Given the description of an element on the screen output the (x, y) to click on. 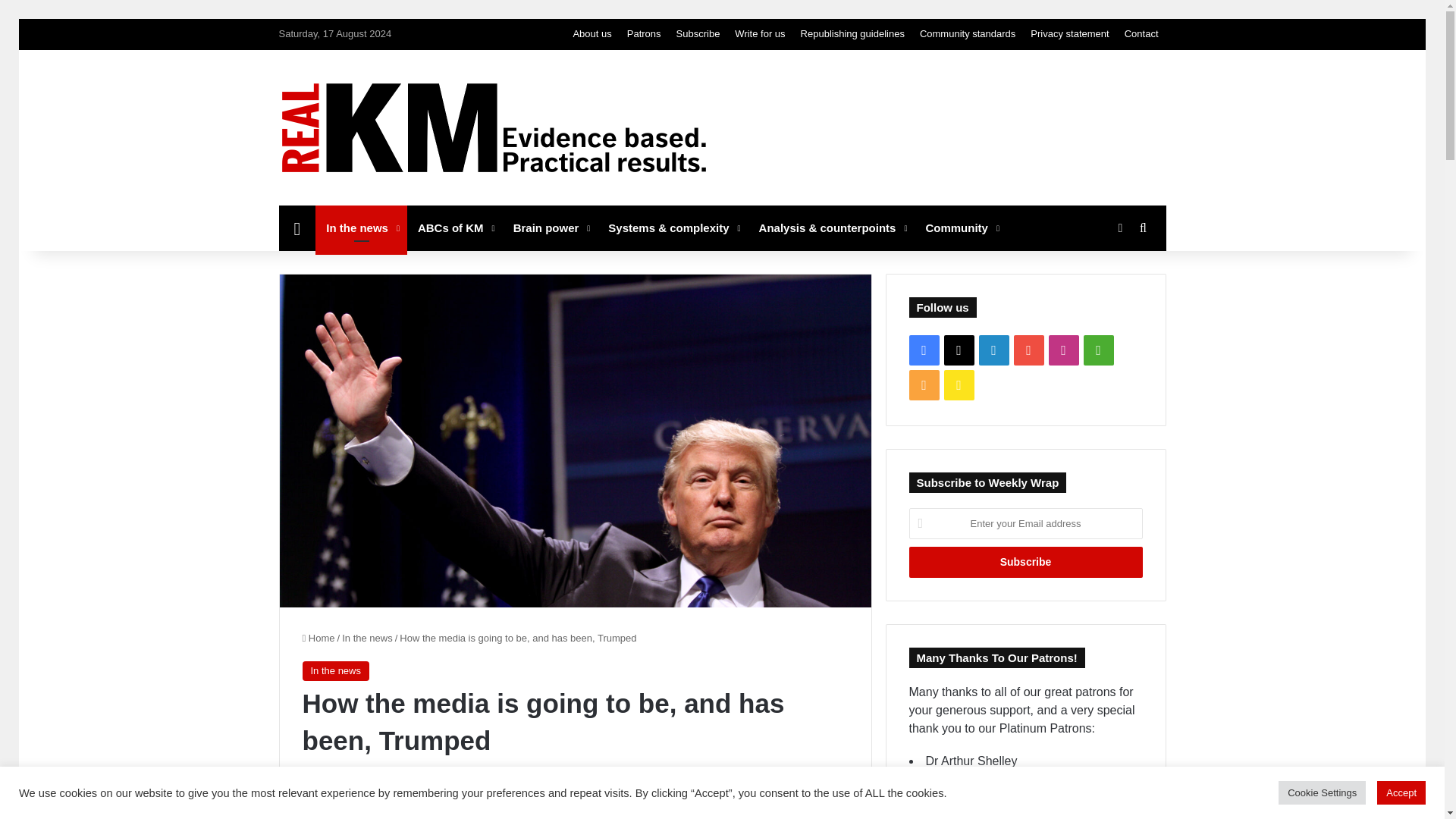
Patrons (644, 33)
Bruce Boyes (331, 778)
ABCs of KM (454, 227)
Privacy statement (1069, 33)
Brain power (550, 227)
RealKM Magazine (494, 127)
Subscribe (1025, 562)
Write for us (759, 33)
Republishing guidelines (852, 33)
Subscribe (698, 33)
